Given the description of an element on the screen output the (x, y) to click on. 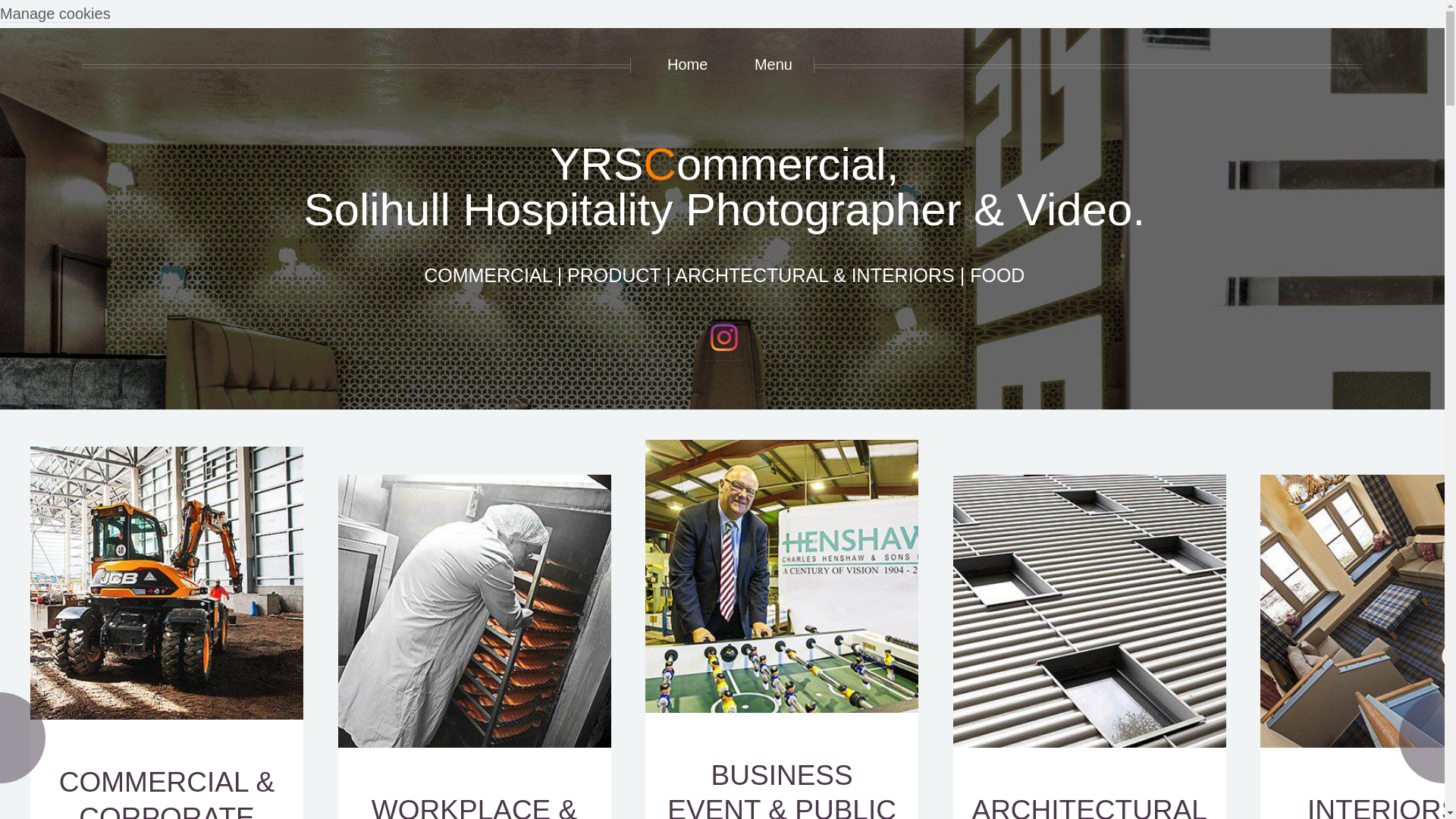
Manage cookies (55, 13)
Some of our latest work is on Instagram (723, 337)
YRSCommercial, Commercial Photography (166, 582)
YRSCommercial, Commercial Photography (167, 792)
